Given the description of an element on the screen output the (x, y) to click on. 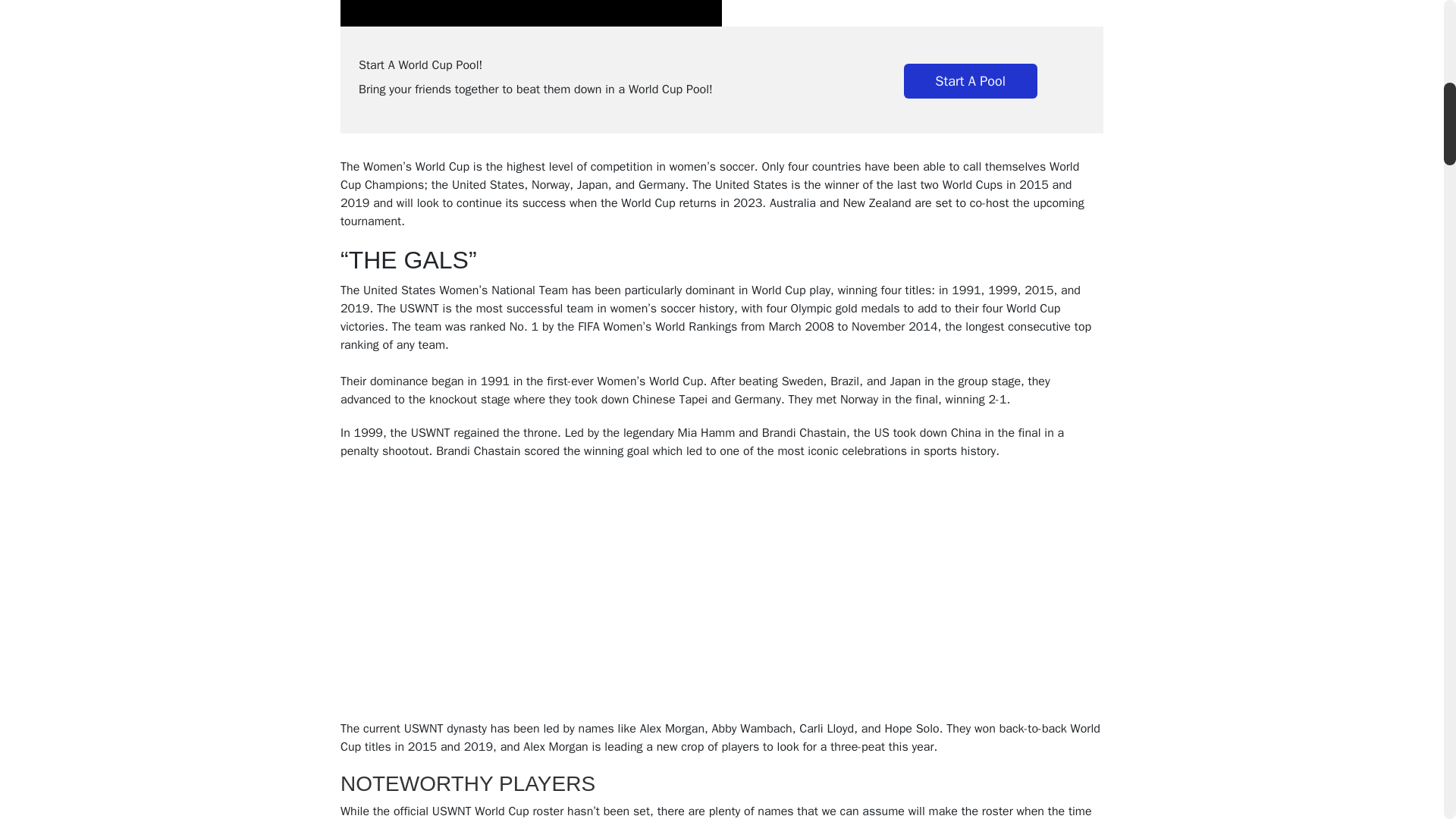
YouTube video player (552, 594)
